Given the description of an element on the screen output the (x, y) to click on. 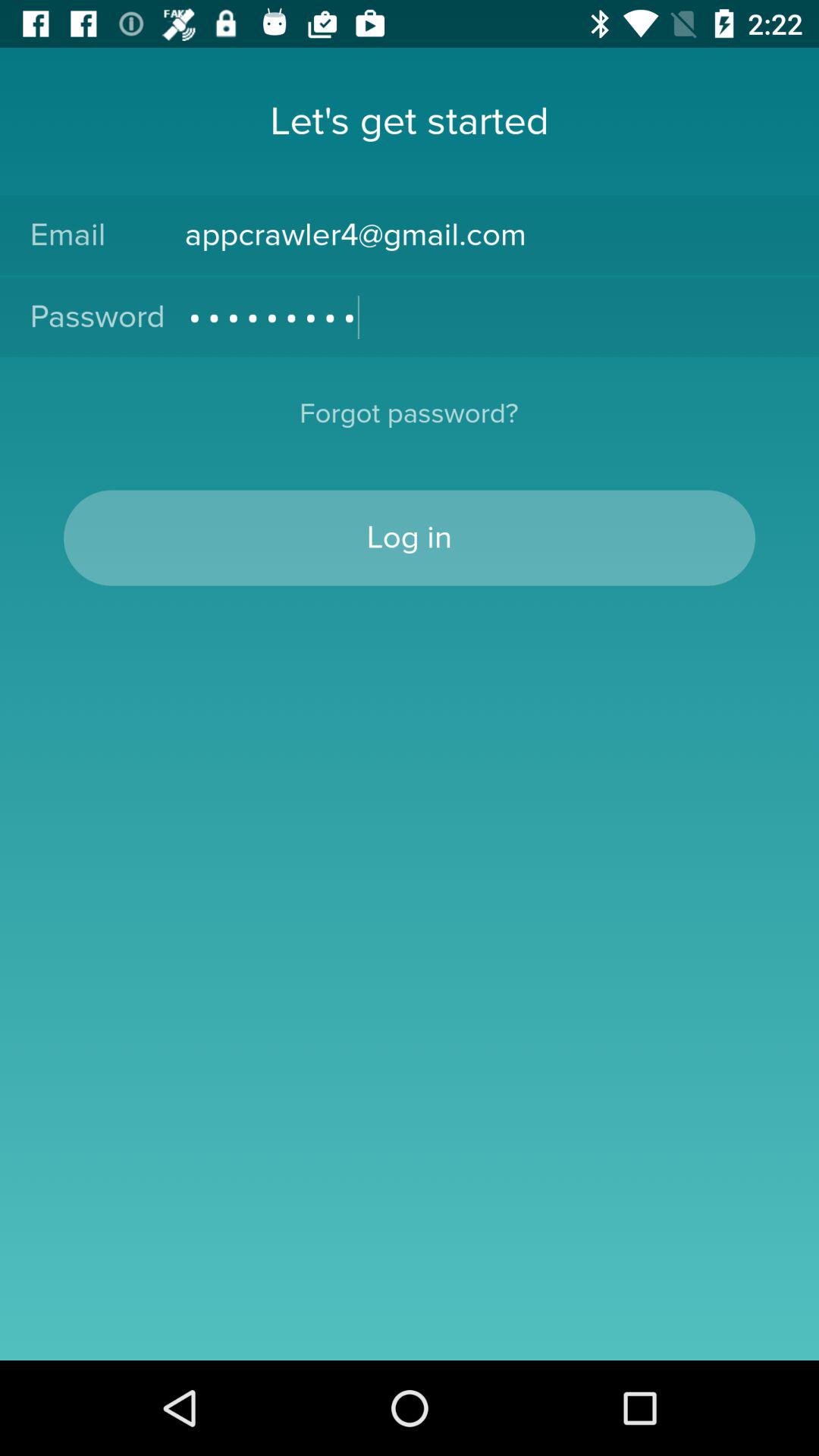
turn off the icon next to password icon (486, 316)
